Given the description of an element on the screen output the (x, y) to click on. 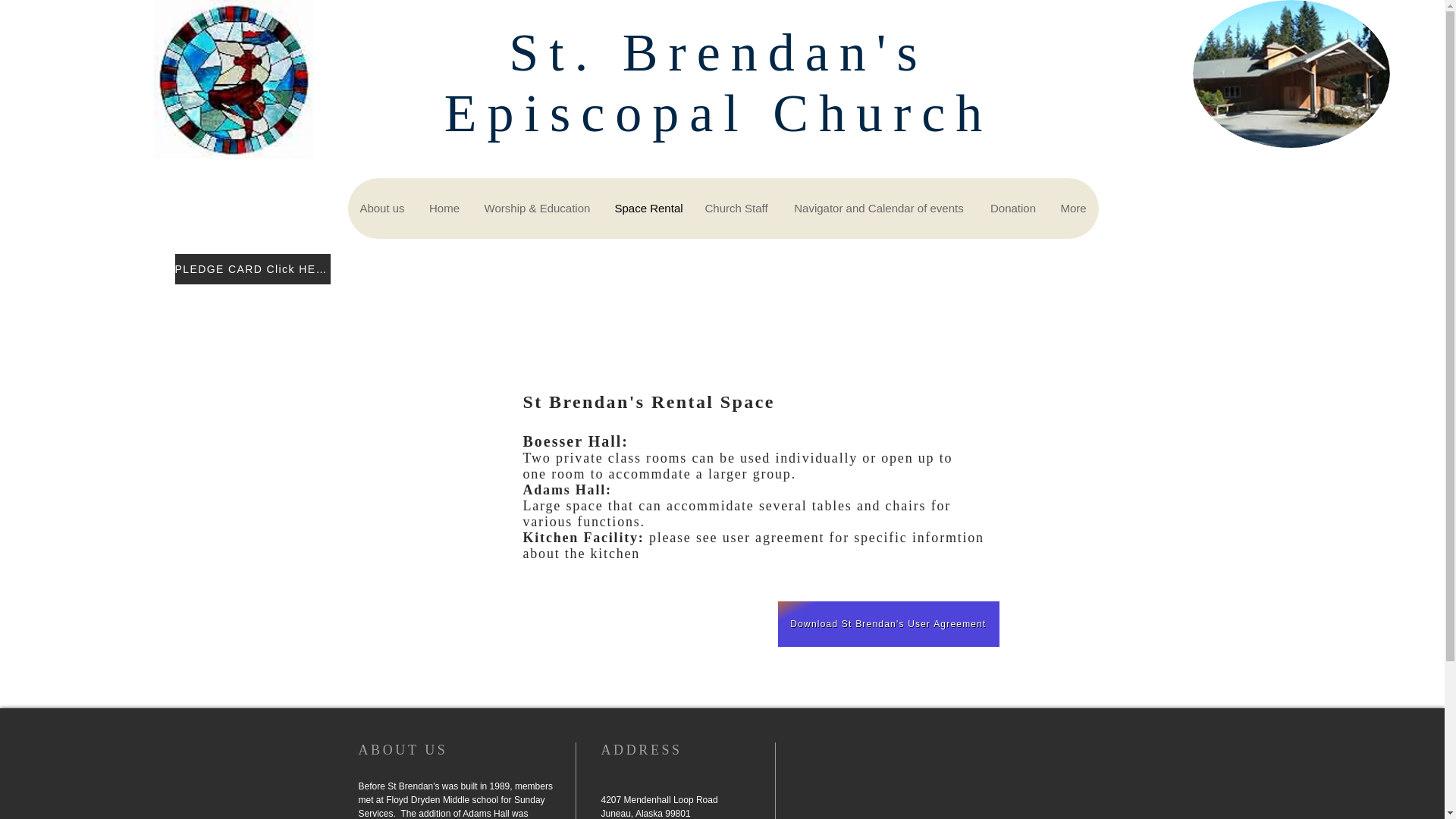
About us (381, 208)
Donation (1013, 208)
PLEDGE CARD Click HERE (252, 268)
Log In (1016, 189)
Download St Brendan's User Agreement (887, 624)
Space Rental (647, 208)
Church Staff (735, 208)
Home (443, 208)
Navigator and Calendar of events (878, 208)
